Given the description of an element on the screen output the (x, y) to click on. 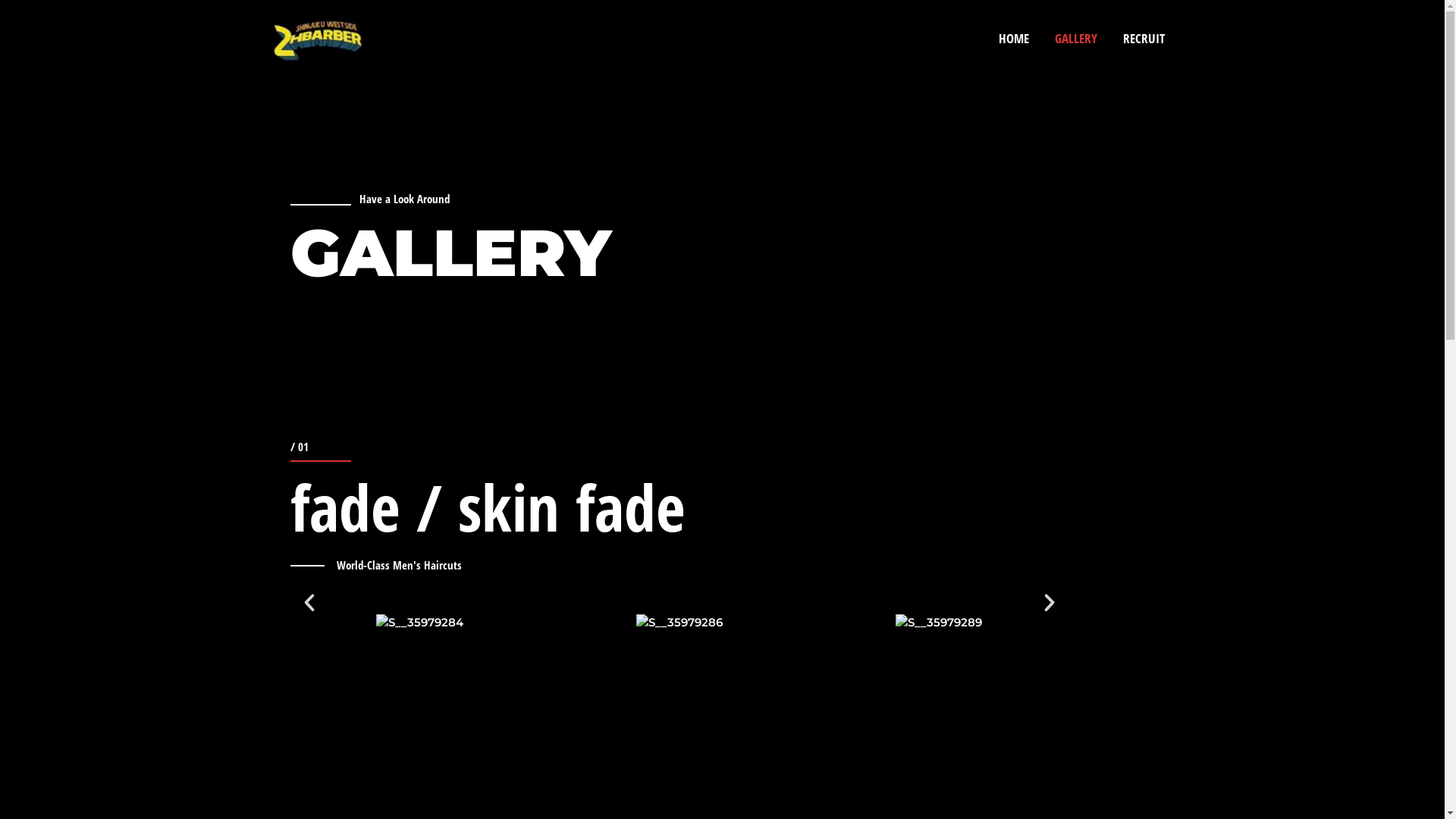
HOME Element type: text (1013, 38)
RECRUIT Element type: text (1143, 38)
GALLERY Element type: text (1075, 38)
